Given the description of an element on the screen output the (x, y) to click on. 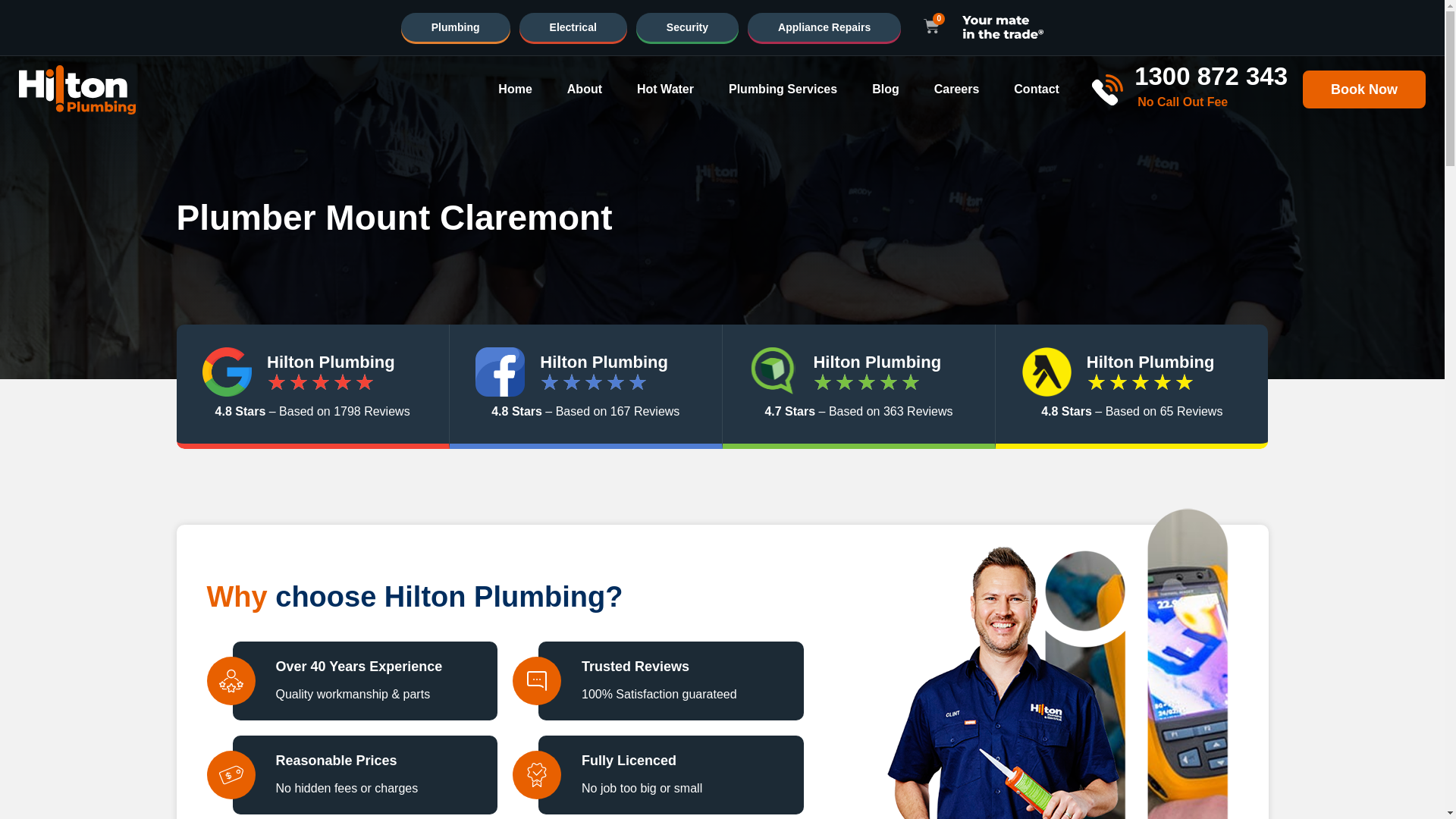
Plumbing Services (782, 89)
Home (514, 89)
Security (687, 27)
Electrical (573, 27)
About (585, 89)
Appliance Repairs (824, 27)
Hot Water (665, 89)
Plumbing (456, 27)
0 (931, 27)
